Given the description of an element on the screen output the (x, y) to click on. 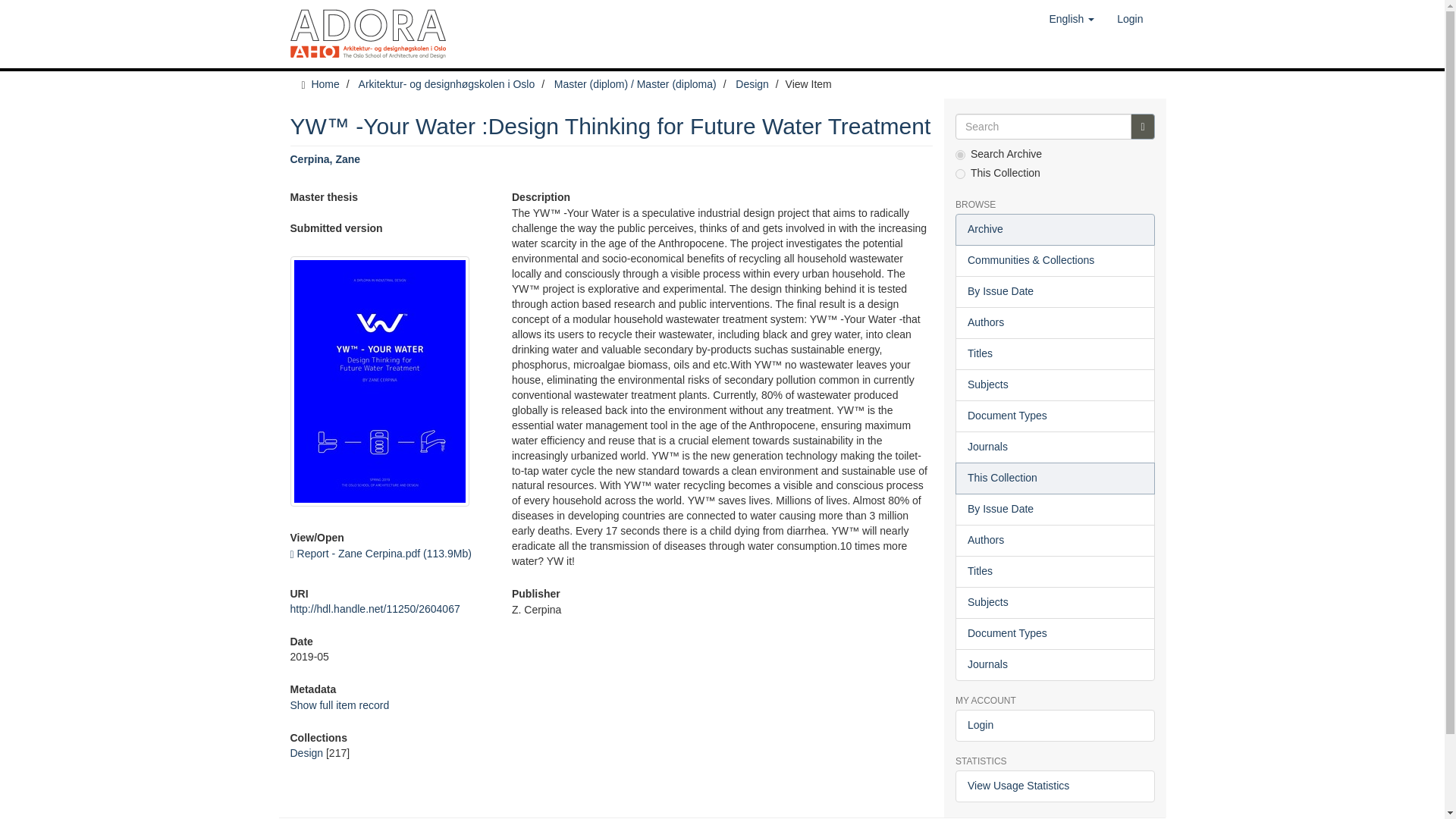
By Issue Date (1054, 291)
Login (1129, 18)
Subjects (1054, 385)
Titles (1054, 354)
Authors (1054, 323)
Cerpina, Zane (324, 159)
Go (1142, 126)
Design (306, 752)
Design (751, 83)
English  (1070, 18)
